Given the description of an element on the screen output the (x, y) to click on. 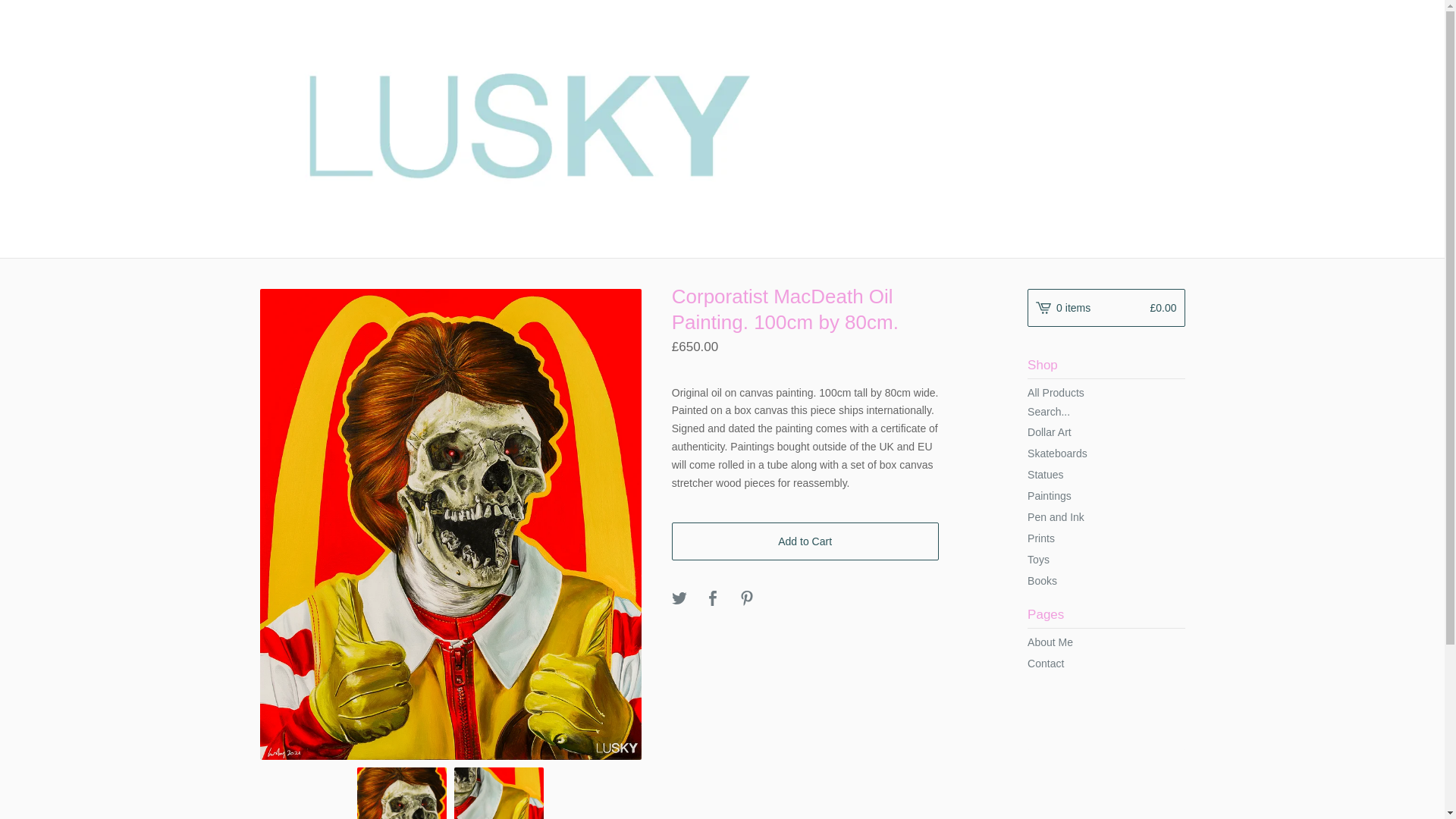
Dollar Art (1106, 432)
View Toys (1106, 559)
Add to Cart (805, 541)
View Prints (1106, 537)
About Me (1106, 641)
Paintings (1106, 495)
View Pen and Ink (1106, 516)
Contact (1106, 663)
Statues (1106, 474)
